Given the description of an element on the screen output the (x, y) to click on. 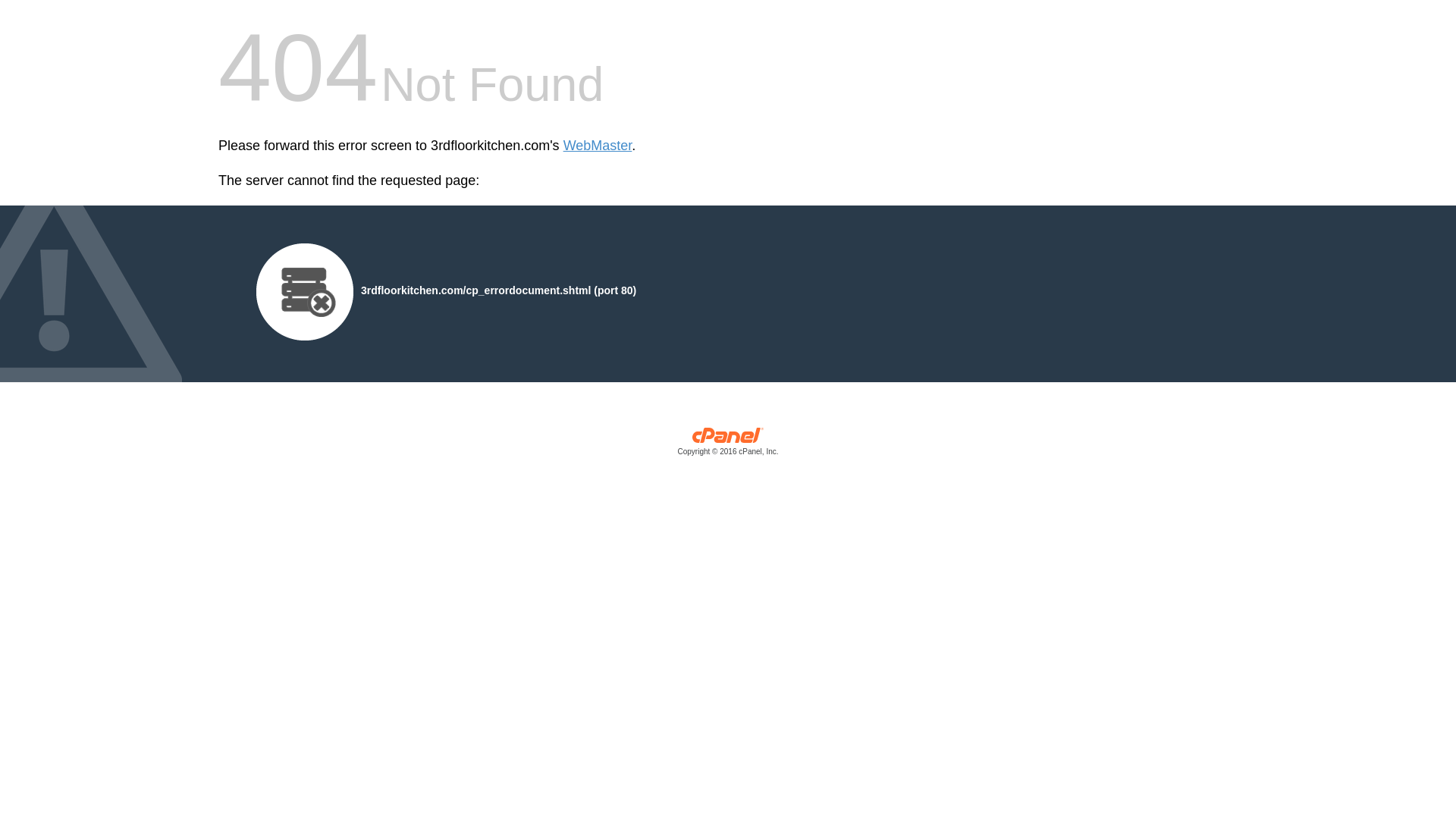
WebMaster Element type: text (597, 145)
